Given the description of an element on the screen output the (x, y) to click on. 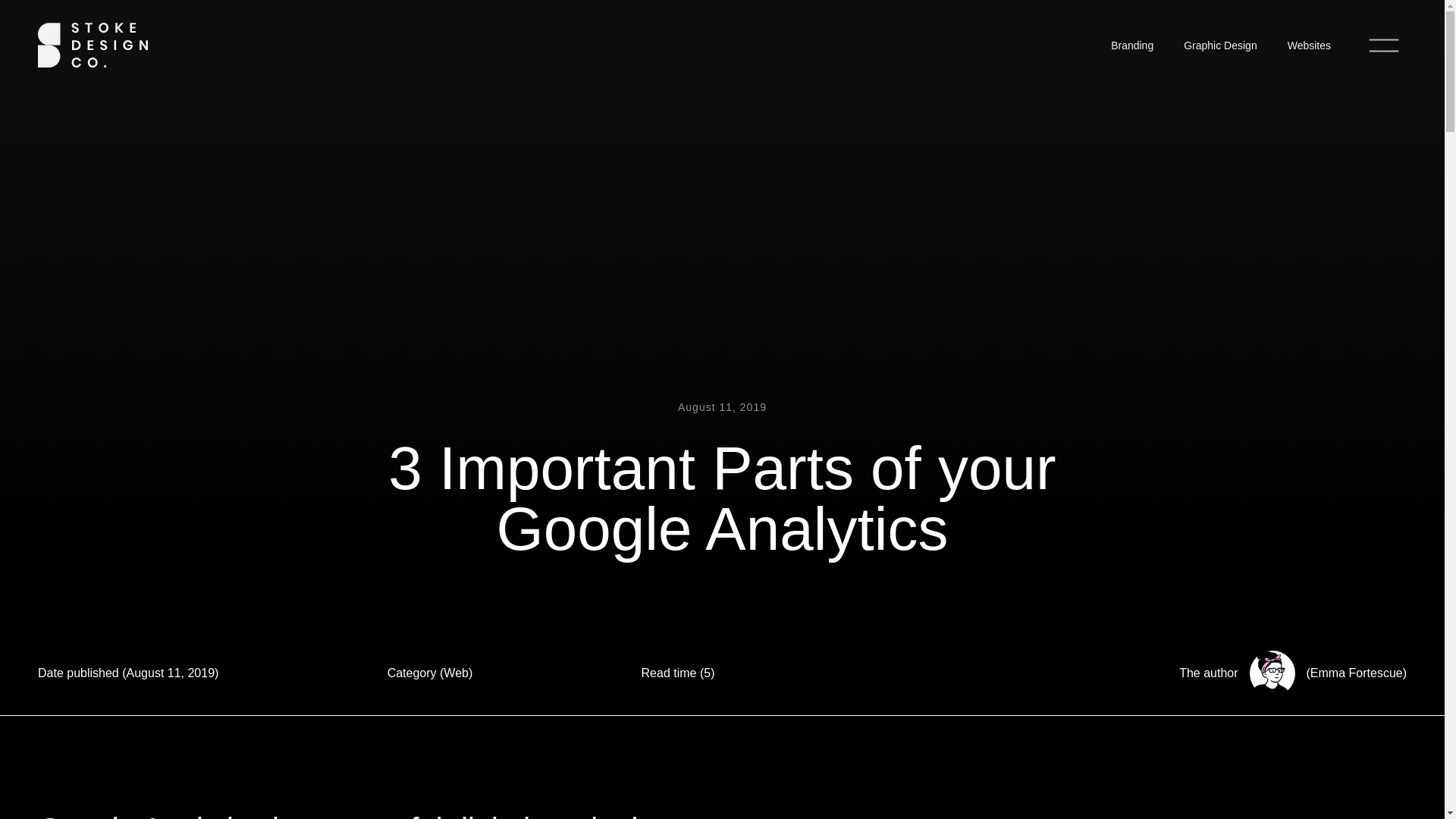
Branding (1132, 45)
Graphic Design (1220, 45)
Websites (1308, 45)
